Given the description of an element on the screen output the (x, y) to click on. 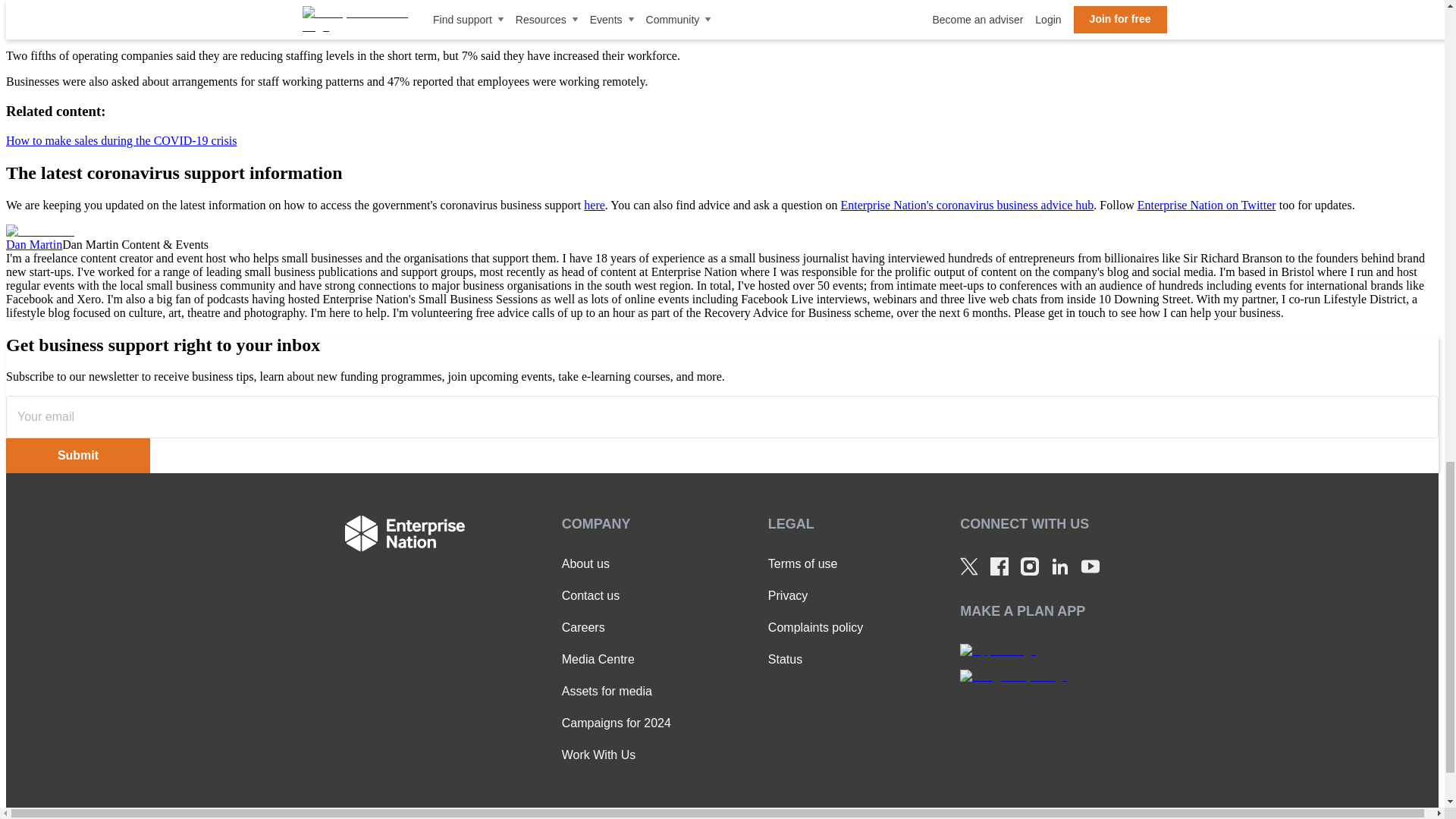
Assets for media (616, 691)
About us (616, 563)
Careers (616, 627)
Dan Martin (39, 231)
Enterprise Nation on Twitter (1206, 205)
Privacy (815, 595)
Status (815, 659)
How to make sales during the COVID-19 crisis (120, 140)
Coronavirus Job Retention Scheme (620, 29)
here (594, 205)
Media Centre (616, 659)
Terms of use (815, 563)
Contact us (616, 595)
launches on 20 April (1190, 29)
Enterprise Nation's coronavirus business advice hub (966, 205)
